Given the description of an element on the screen output the (x, y) to click on. 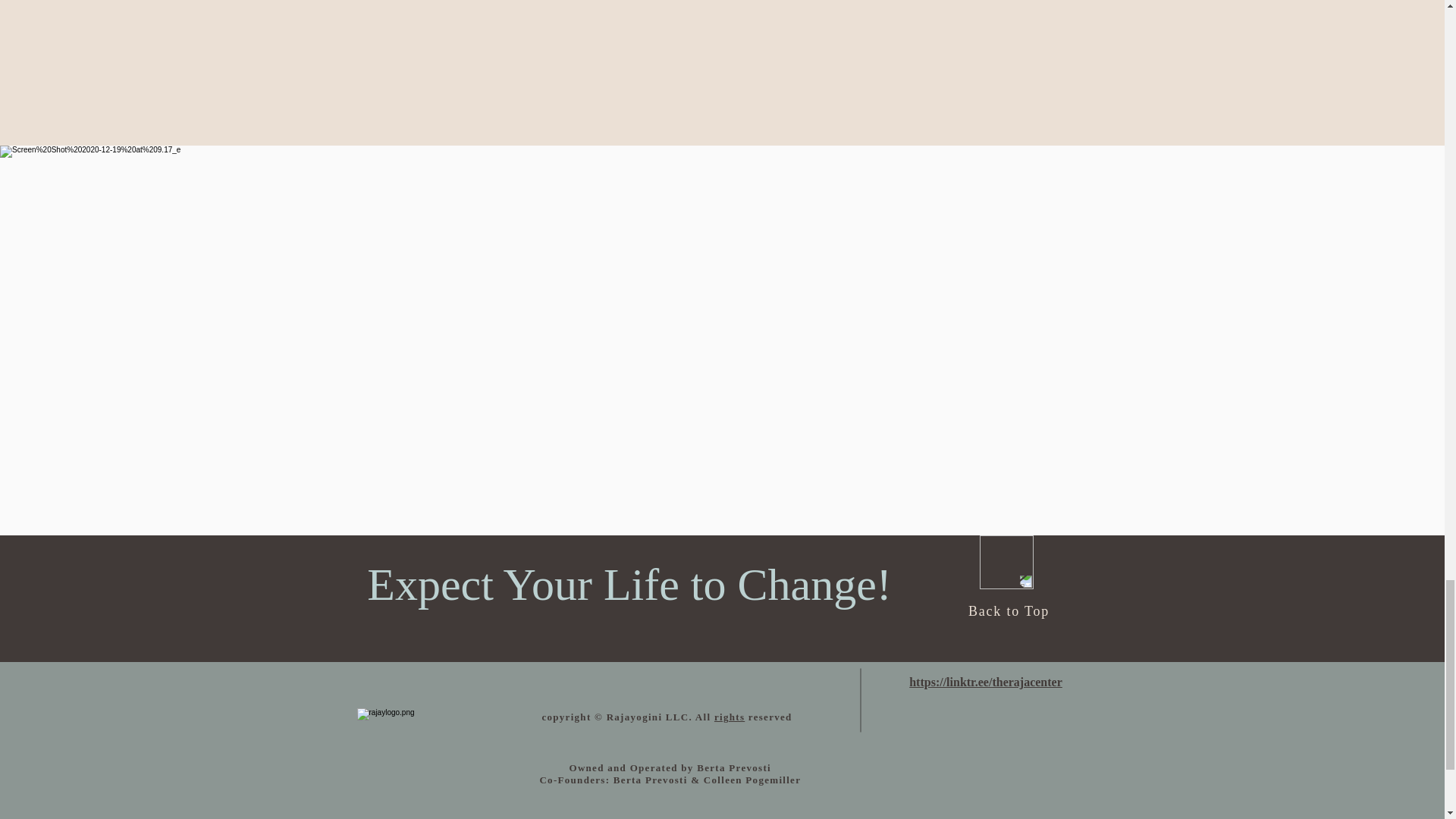
rights (729, 716)
Back to Top (1008, 611)
